Given the description of an element on the screen output the (x, y) to click on. 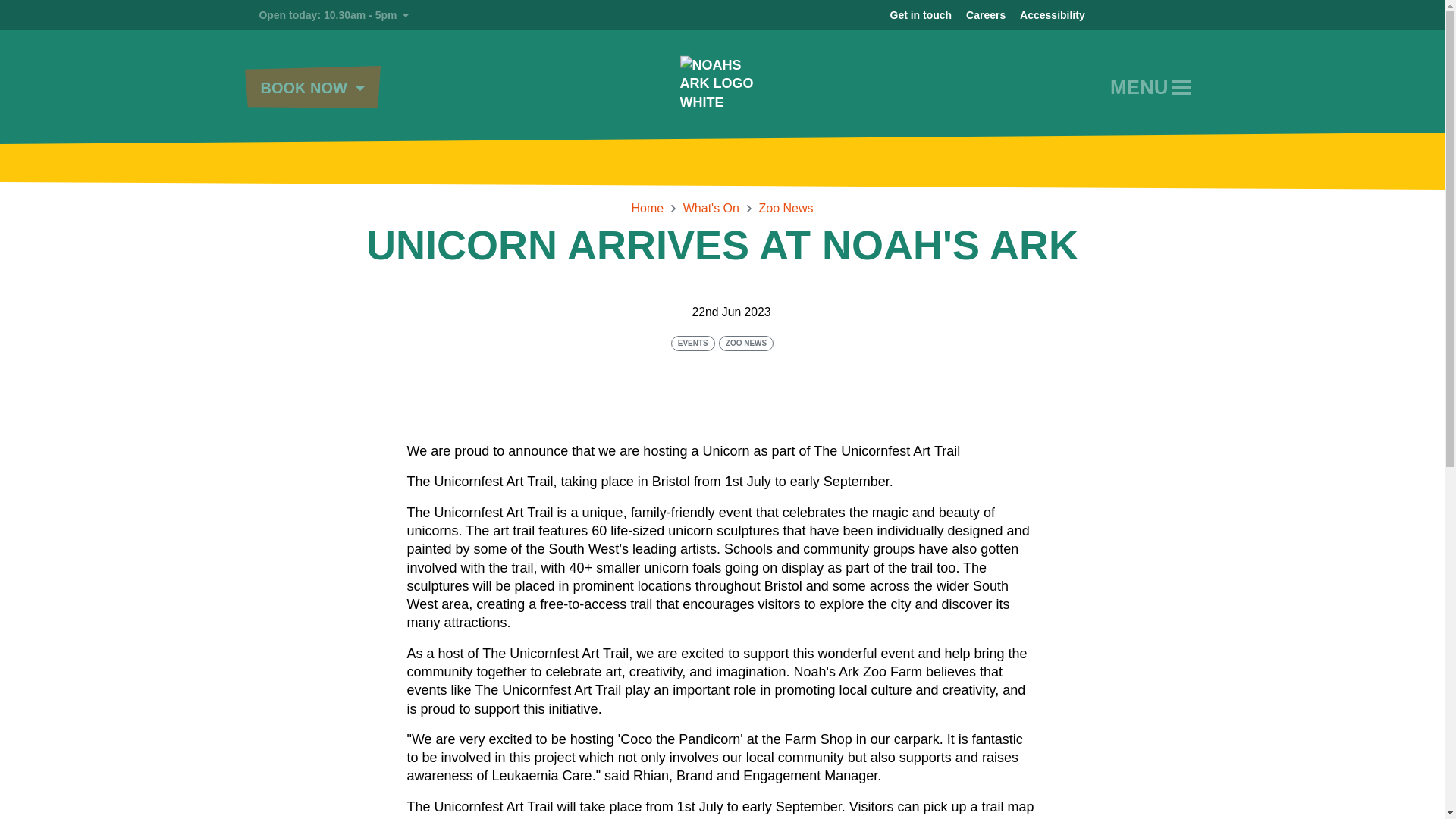
MENU (1149, 87)
Home (1165, 14)
Get in touch (1137, 14)
Shop (1192, 14)
Get in touch (920, 15)
Open today: 10.30am - 5pm (326, 14)
Home (646, 208)
EVENTS (692, 343)
What's On (710, 208)
Careers (986, 15)
